Given the description of an element on the screen output the (x, y) to click on. 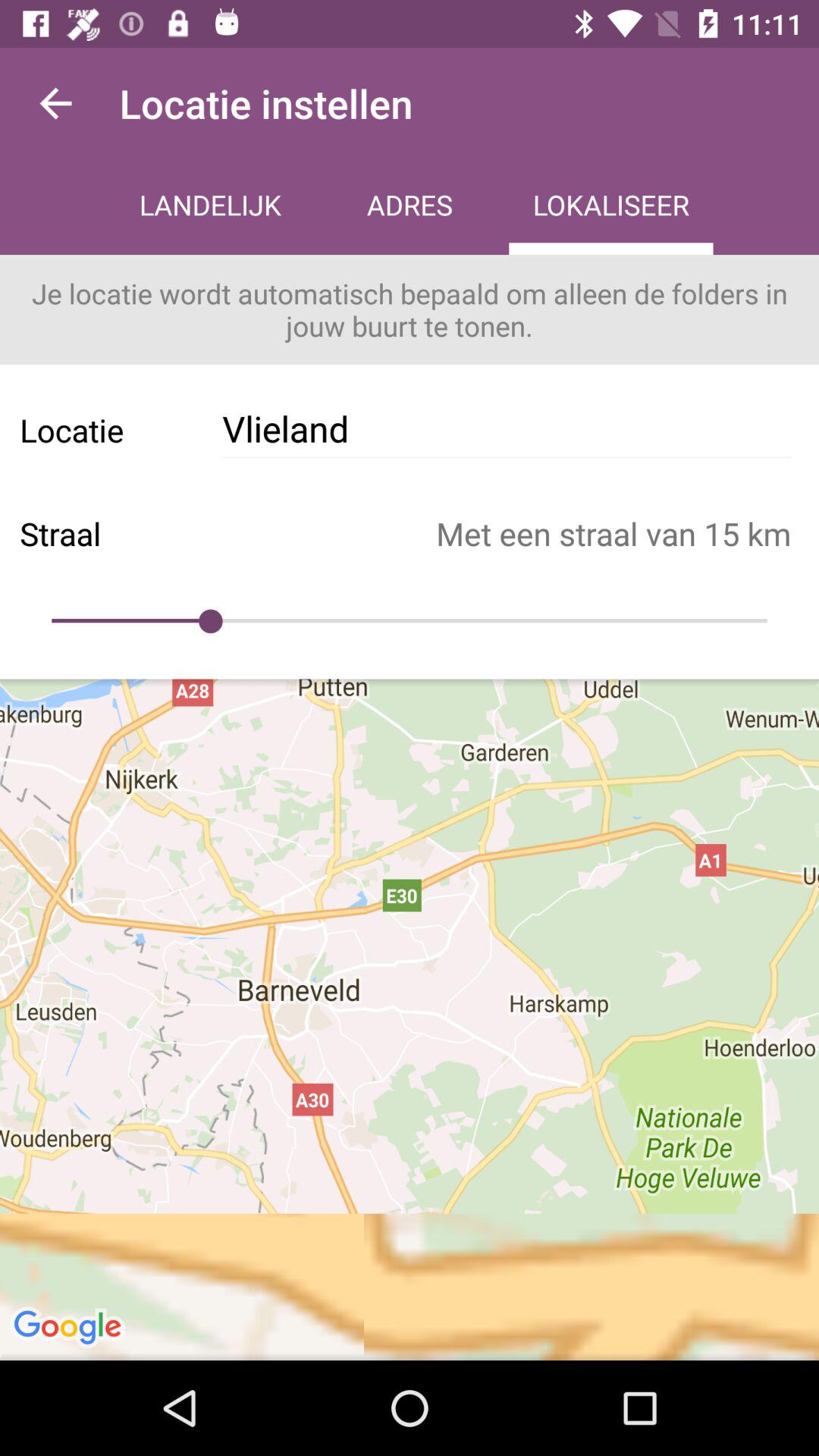
open the lokaliseer item (611, 206)
